Given the description of an element on the screen output the (x, y) to click on. 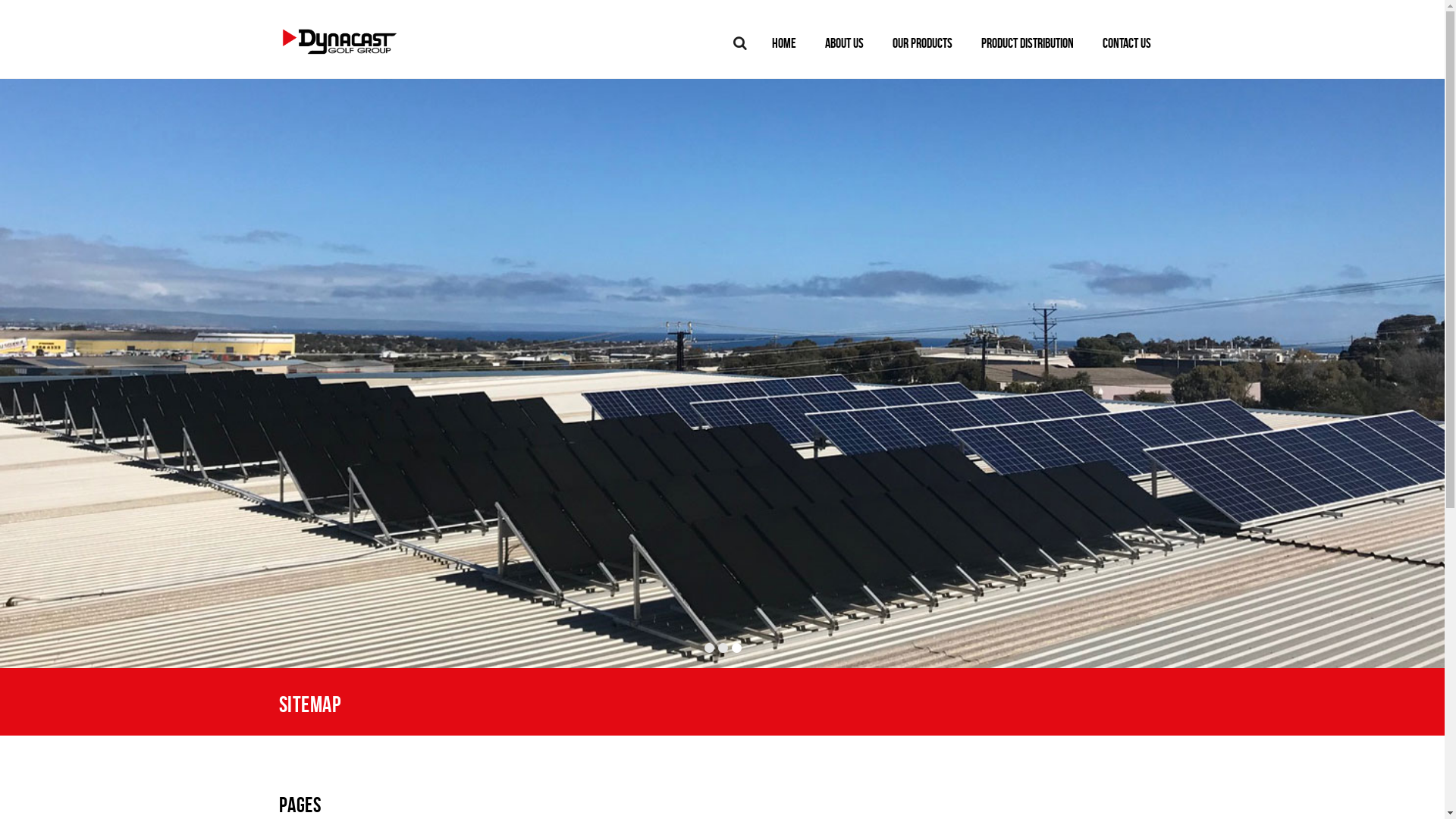
ABOUT US Element type: text (844, 43)
CONTACT US Element type: text (1126, 43)
HOME Element type: text (782, 43)
PRODUCT DISTRIBUTION Element type: text (1027, 43)
OUR PRODUCTS Element type: text (922, 43)
Open search Element type: hover (739, 42)
